Given the description of an element on the screen output the (x, y) to click on. 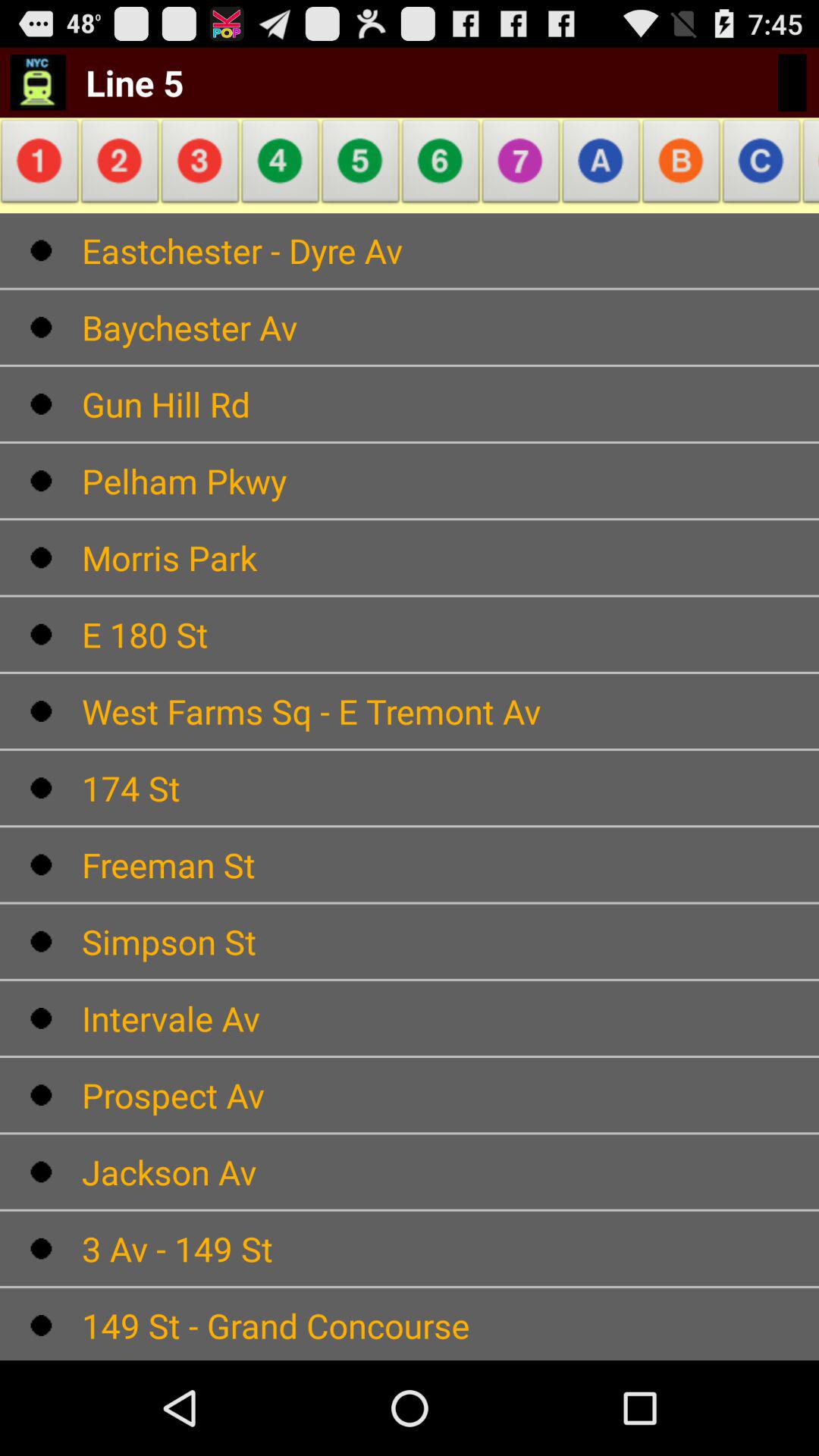
press the item above the eastchester - dyre av app (601, 165)
